Given the description of an element on the screen output the (x, y) to click on. 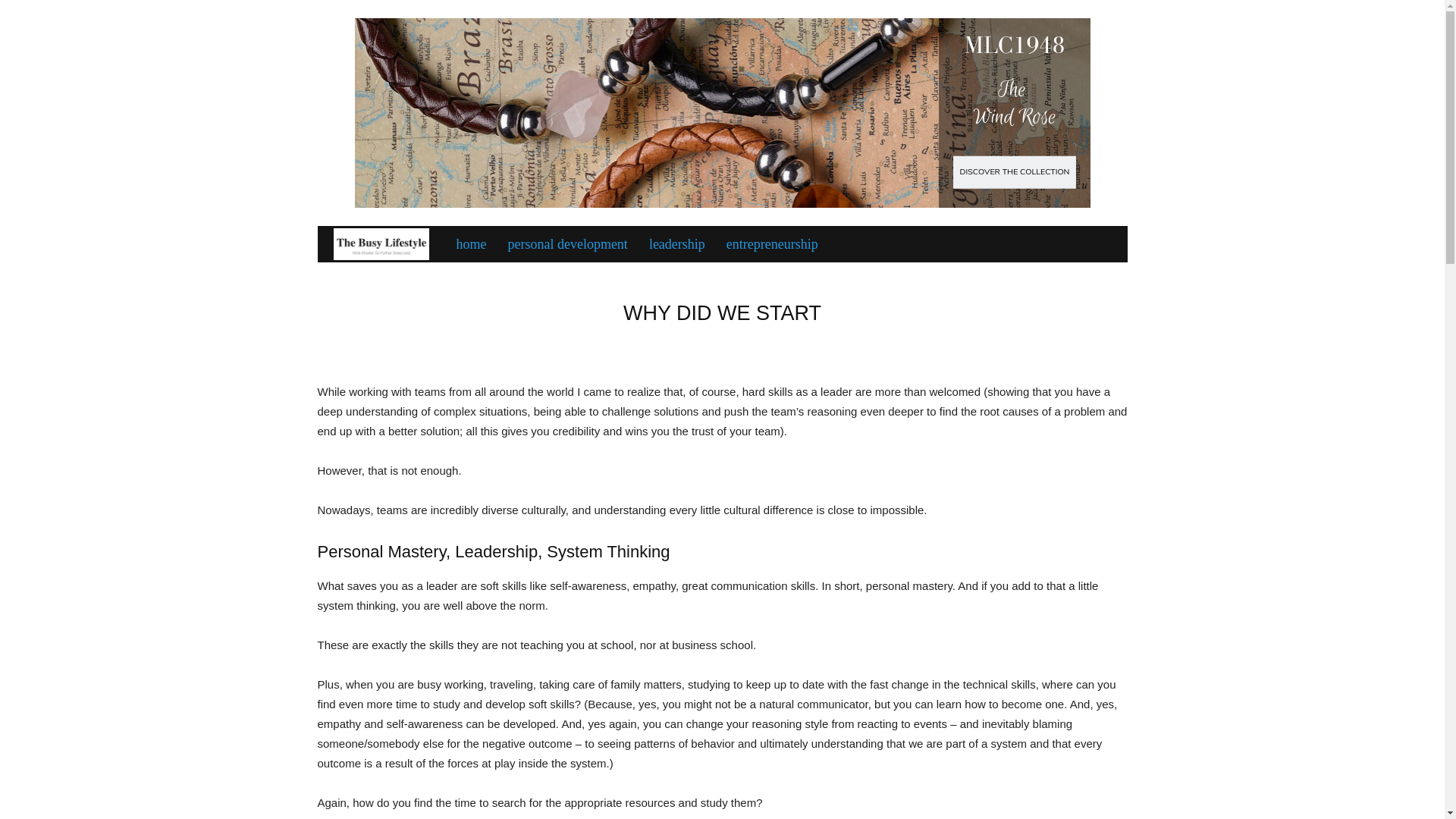
leadership (677, 244)
The Busy Lifestyle (381, 244)
personal development (566, 244)
home (470, 244)
entrepreneurship (772, 244)
